Given the description of an element on the screen output the (x, y) to click on. 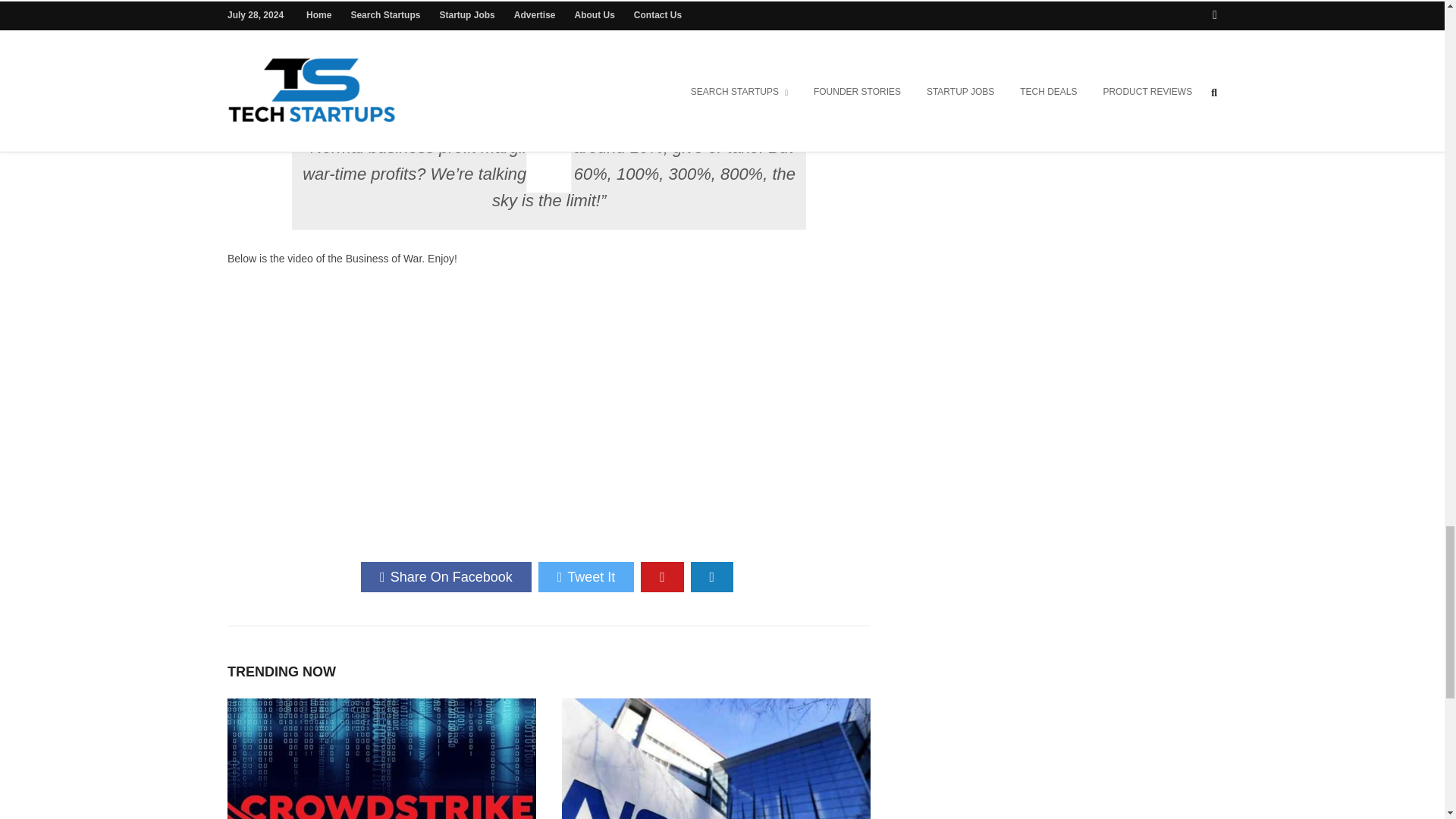
Share by Email (711, 576)
Share On Twitter (586, 576)
The Viciously Profitable Business of War (417, 413)
Share On Pinterest (662, 576)
Share On Facebook (446, 576)
